Given the description of an element on the screen output the (x, y) to click on. 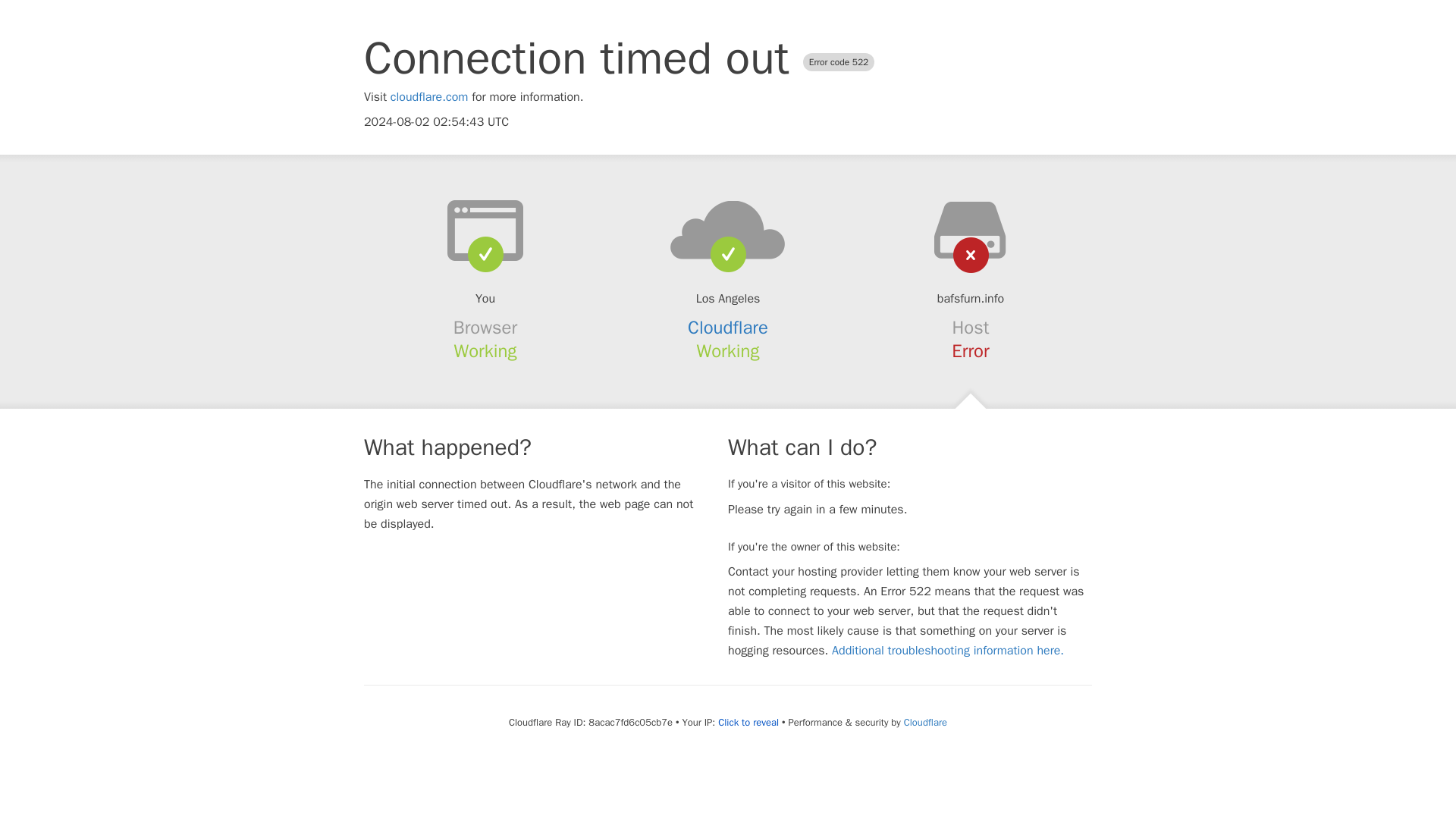
Click to reveal (747, 722)
Cloudflare (727, 327)
Cloudflare (925, 721)
cloudflare.com (429, 96)
Additional troubleshooting information here. (947, 650)
